Given the description of an element on the screen output the (x, y) to click on. 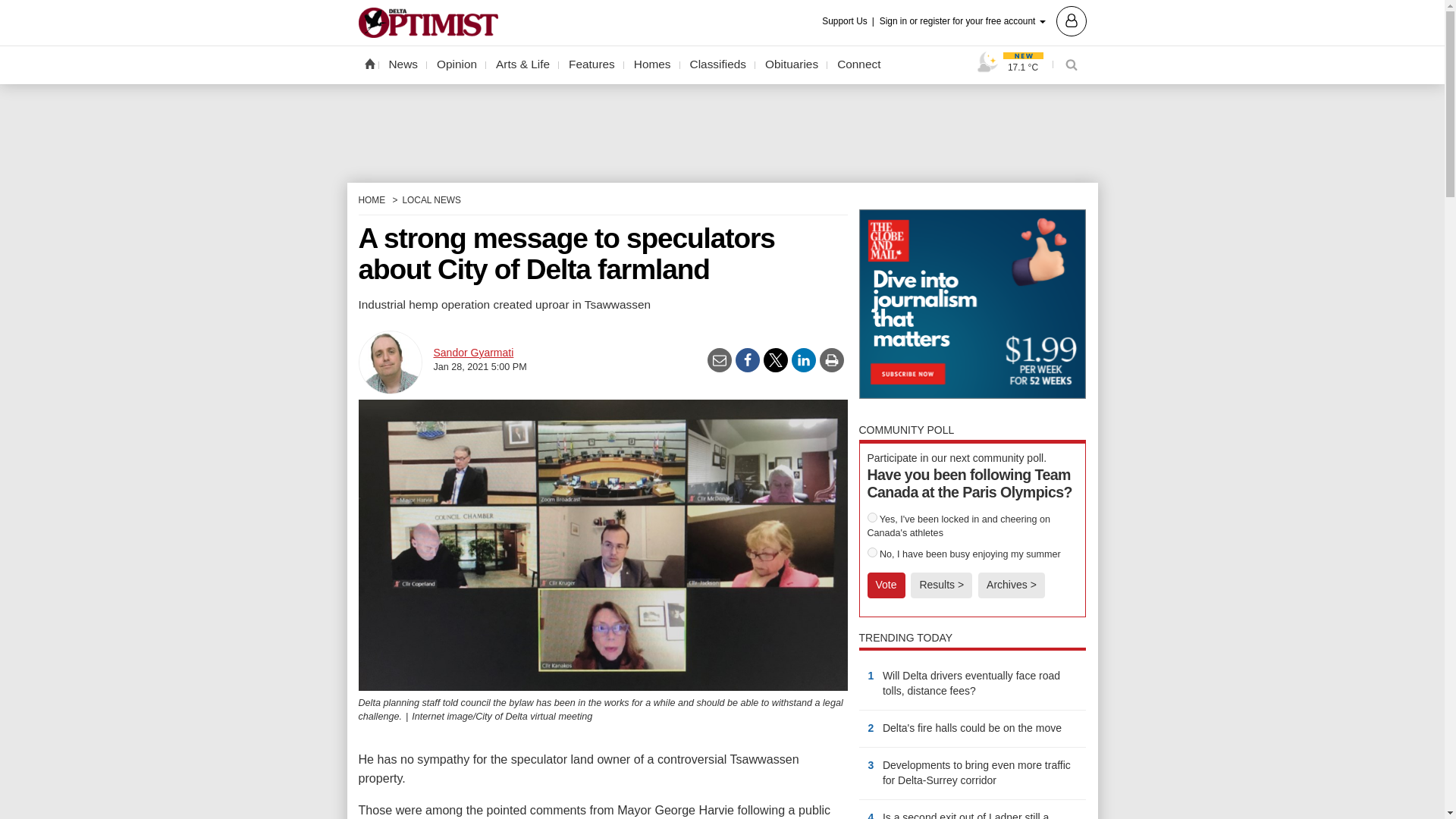
Sign in or register for your free account (982, 20)
123189 (872, 517)
Home (368, 63)
Opinion (456, 64)
123190 (872, 552)
News (403, 64)
Support Us (849, 21)
